Given the description of an element on the screen output the (x, y) to click on. 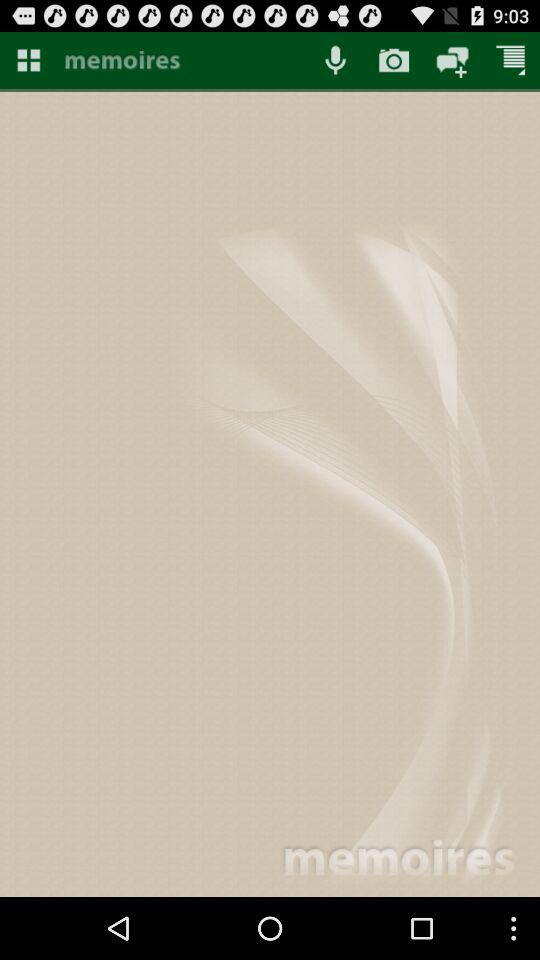
open the icon at the top left corner (28, 60)
